Given the description of an element on the screen output the (x, y) to click on. 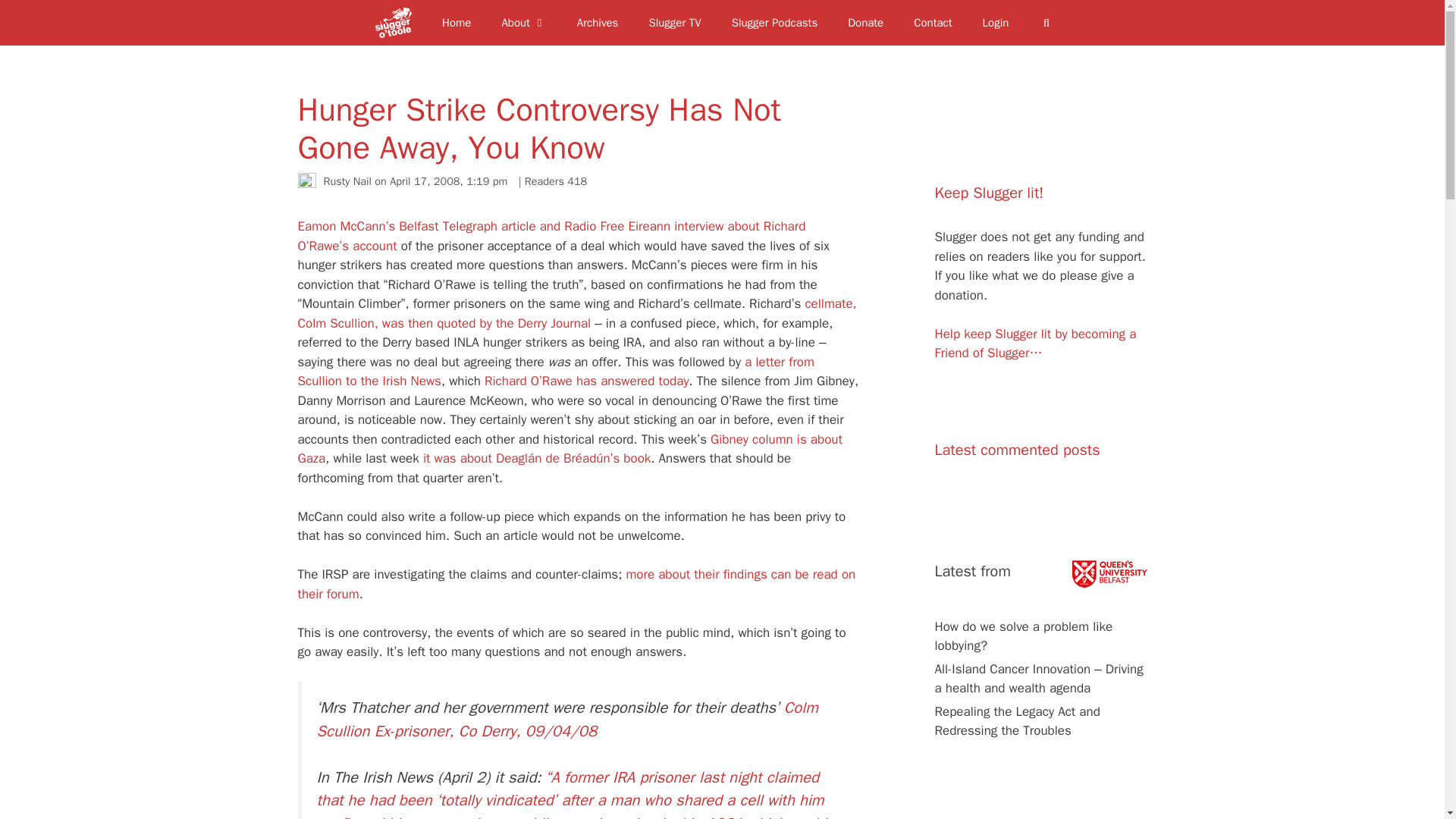
Login (996, 22)
Archives (597, 22)
About (523, 22)
Rusty Nail (347, 181)
Gibney column is about Gaza (569, 448)
Richard O'Rawe has answered today (586, 381)
Slugger TV (674, 22)
View all posts by Rusty Nail (347, 181)
Home (456, 22)
more about their findings can be read on their forum (576, 583)
cellmate was then quoted by the Derry Journal (576, 313)
Slugger Podcasts (774, 22)
a letter to the Irish News (555, 370)
Donate (865, 22)
